Given the description of an element on the screen output the (x, y) to click on. 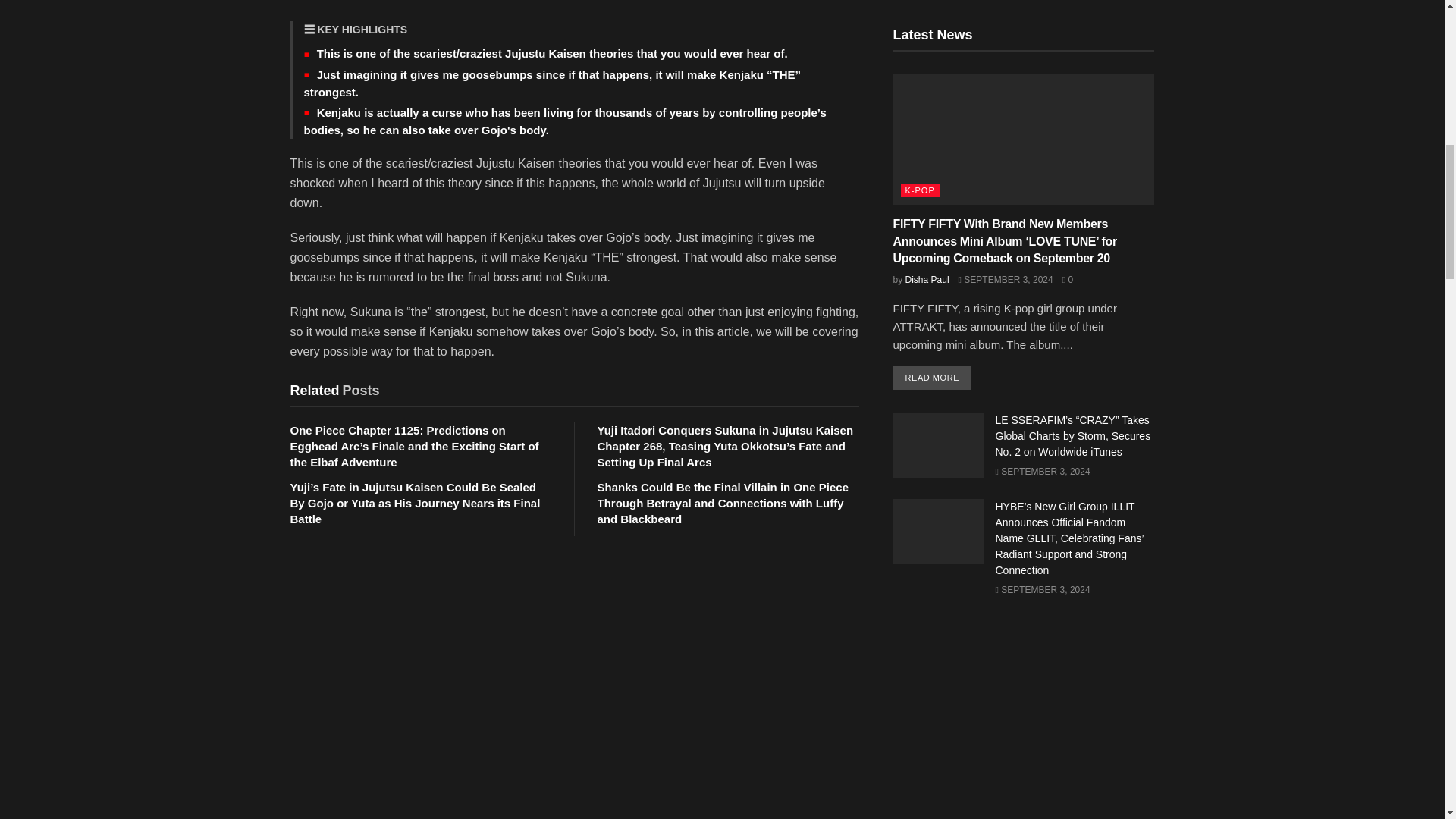
K-POP (920, 190)
